Given the description of an element on the screen output the (x, y) to click on. 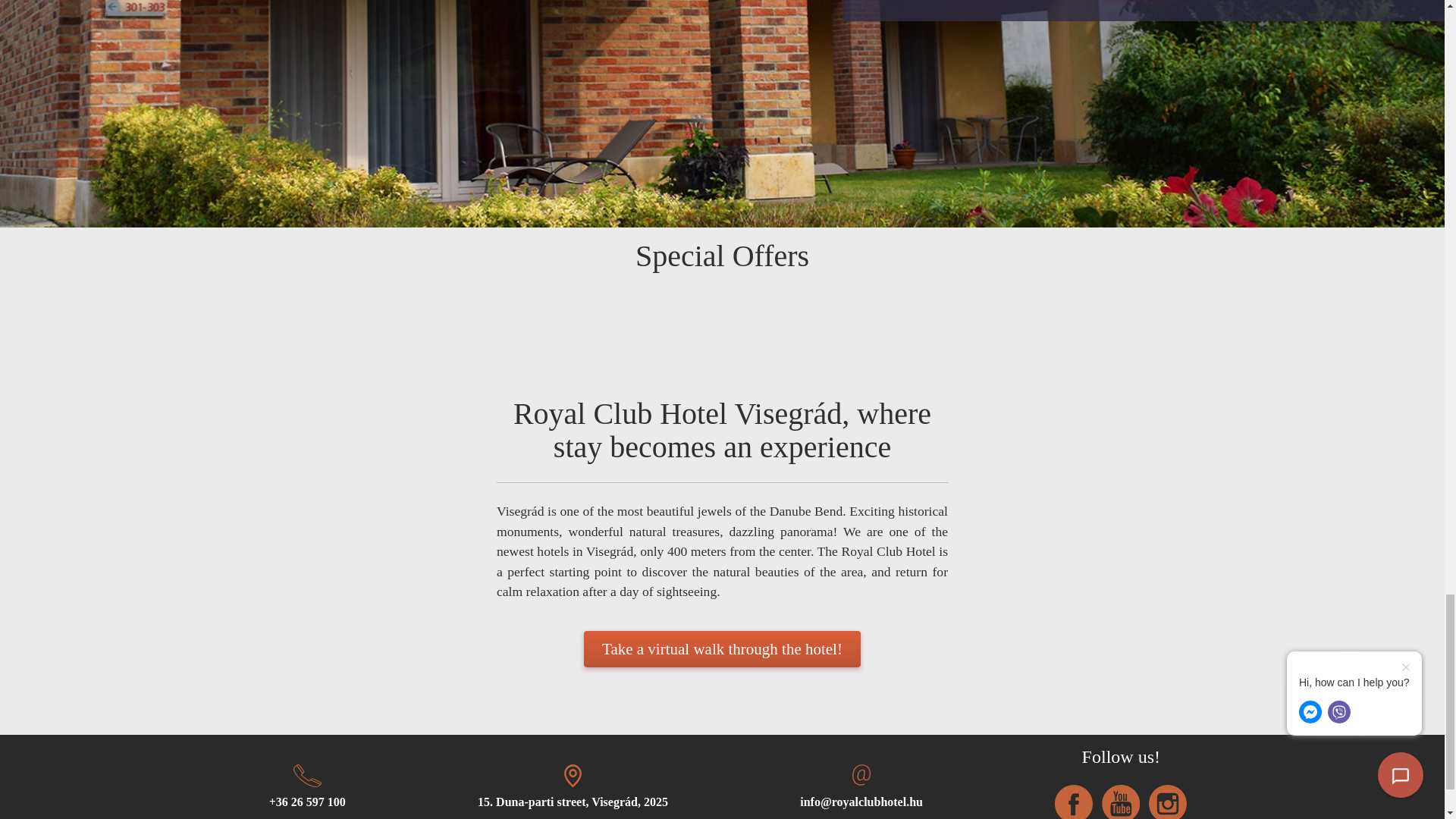
Take a virtual walk through the hotel! (721, 648)
